Given the description of an element on the screen output the (x, y) to click on. 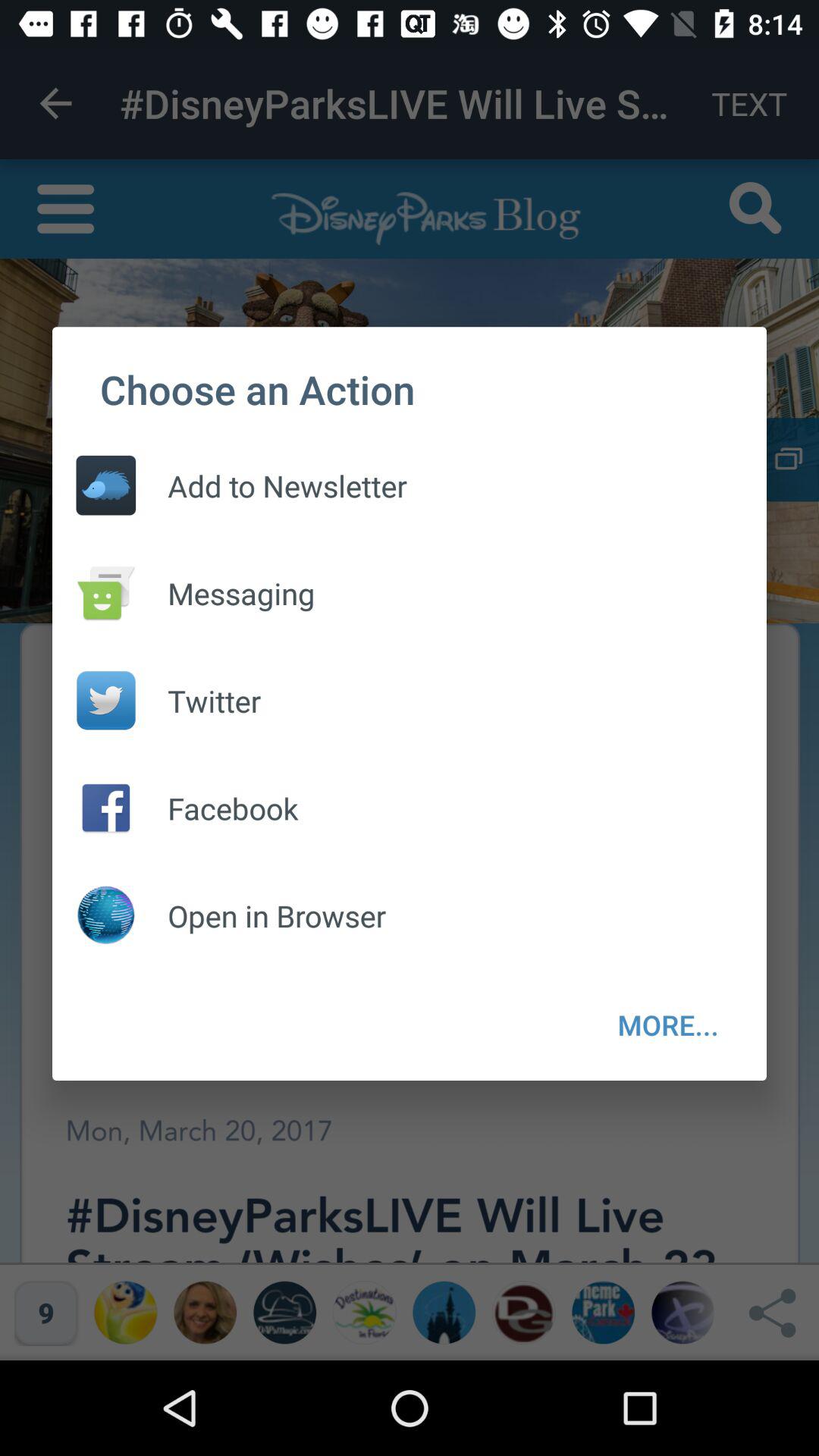
flip until the facebook (216, 808)
